Given the description of an element on the screen output the (x, y) to click on. 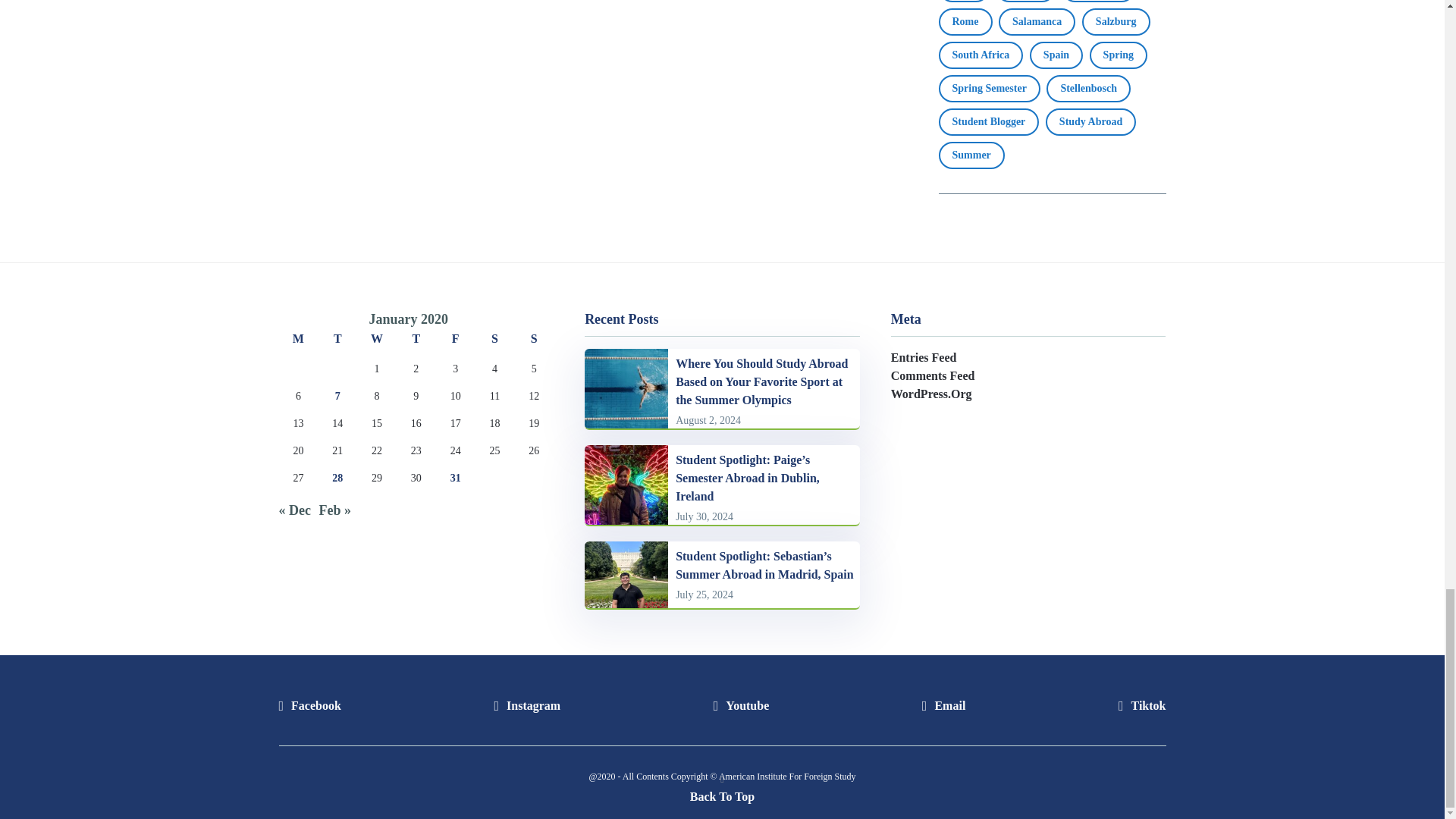
Monday (298, 342)
Saturday (495, 342)
Sunday (533, 342)
Tuesday (336, 342)
Wednesday (376, 342)
Thursday (415, 342)
Friday (455, 342)
